Given the description of an element on the screen output the (x, y) to click on. 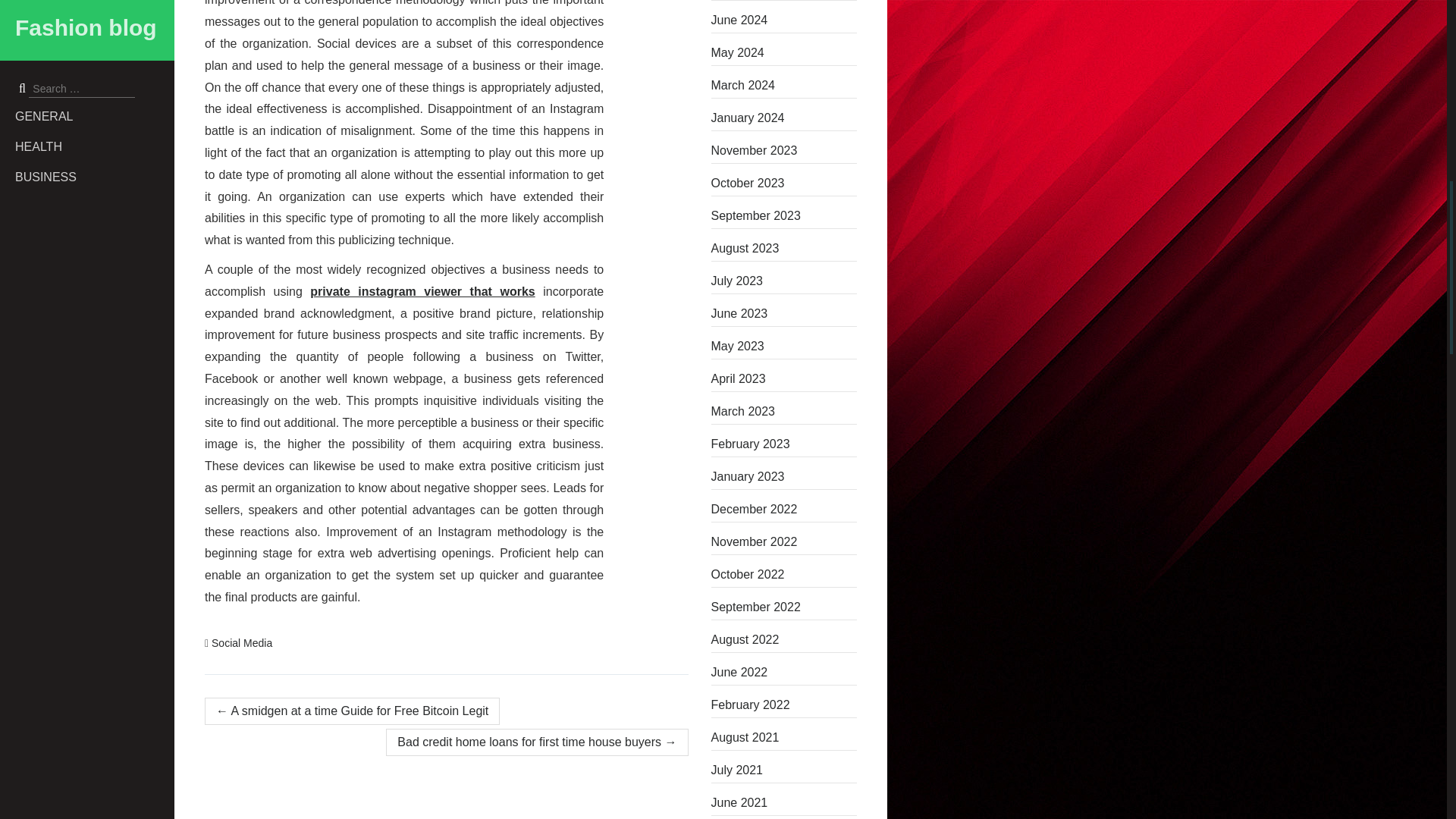
June 2023 (784, 313)
private instagram viewer that works (422, 291)
May 2024 (784, 52)
August 2022 (784, 639)
February 2023 (784, 444)
October 2023 (784, 183)
January 2023 (784, 476)
July 2023 (784, 281)
November 2022 (784, 541)
November 2023 (784, 150)
